Given the description of an element on the screen output the (x, y) to click on. 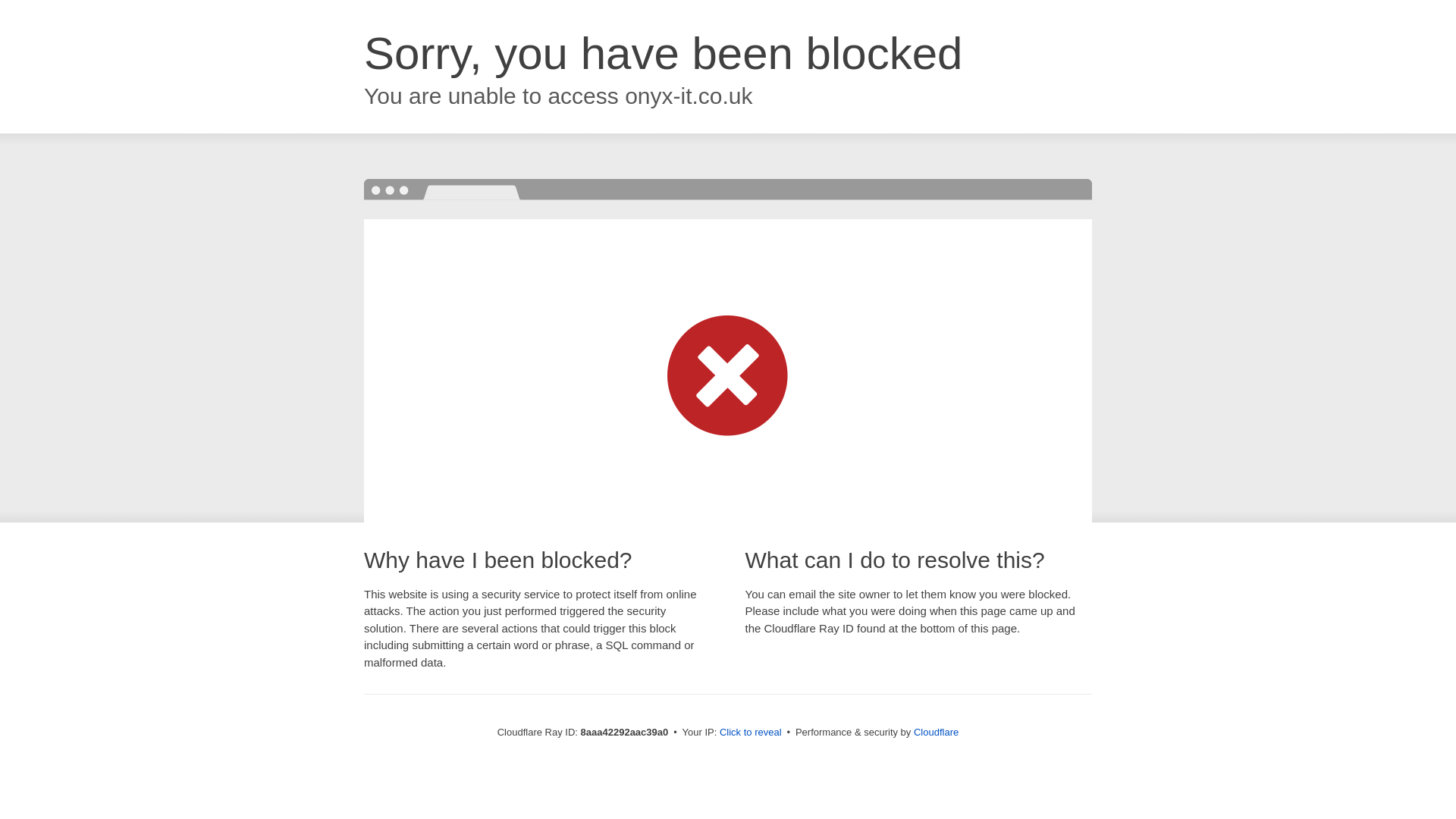
Click to reveal (750, 732)
Cloudflare (936, 731)
